Given the description of an element on the screen output the (x, y) to click on. 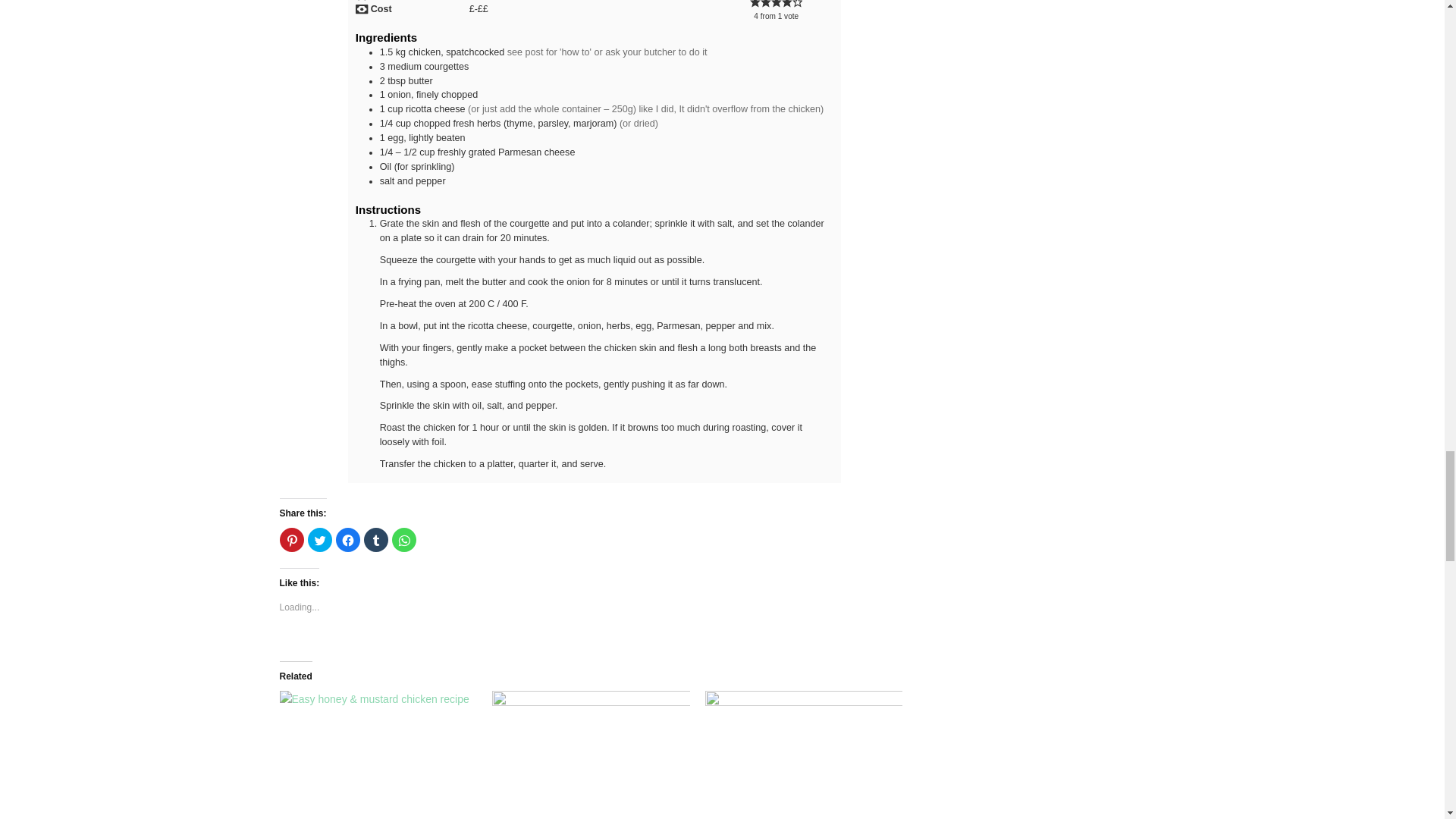
Click to share on Tumblr (376, 539)
Click to share on Facebook (346, 539)
Easy butter chicken (803, 747)
Click to share on Twitter (319, 539)
Click to share on Pinterest (290, 539)
Easy honey and Dijon mustard chicken (378, 747)
Easy chicken taco soup (591, 747)
Click to share on WhatsApp (402, 539)
